Given the description of an element on the screen output the (x, y) to click on. 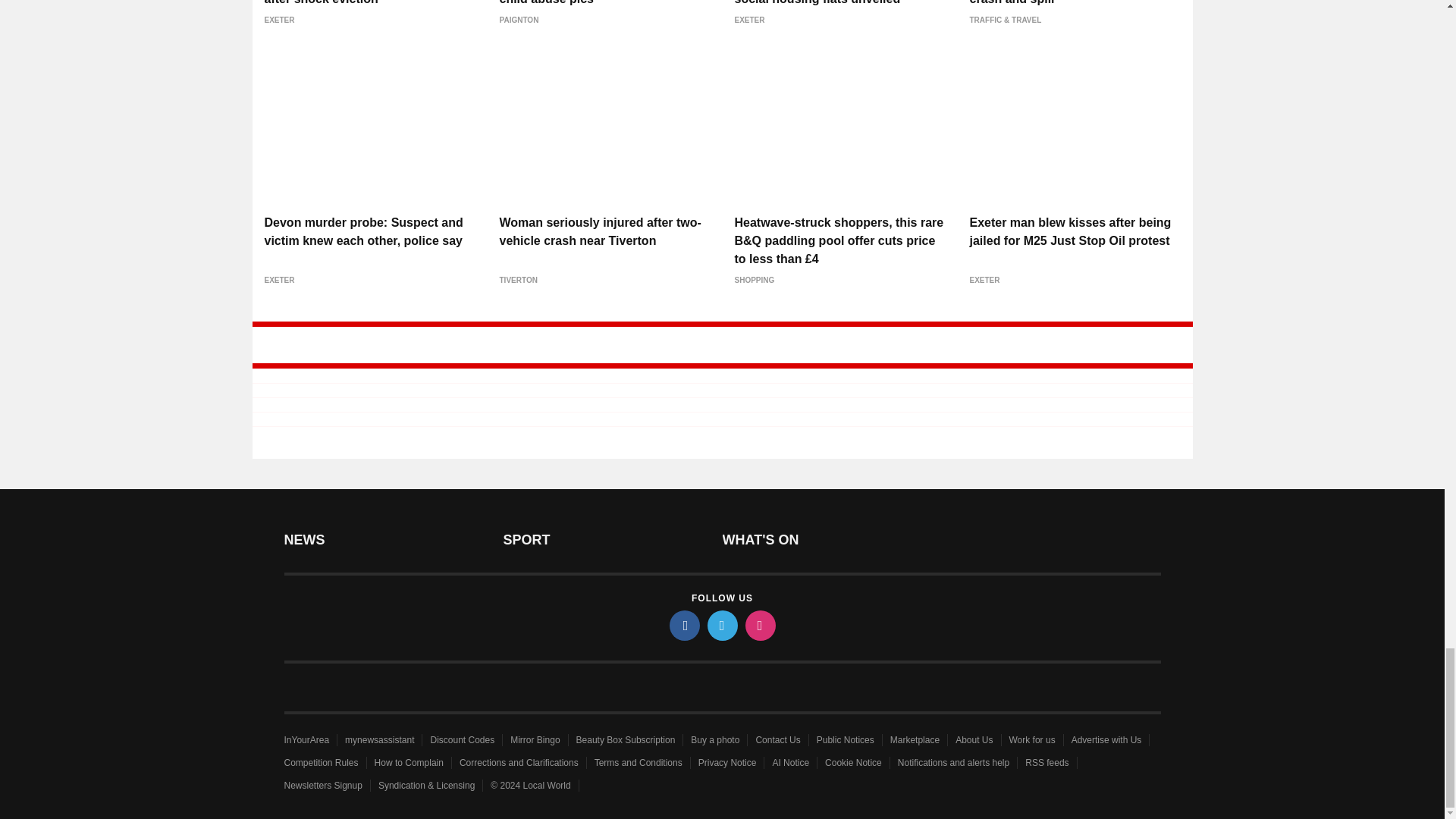
instagram (759, 625)
facebook (683, 625)
twitter (721, 625)
